Given the description of an element on the screen output the (x, y) to click on. 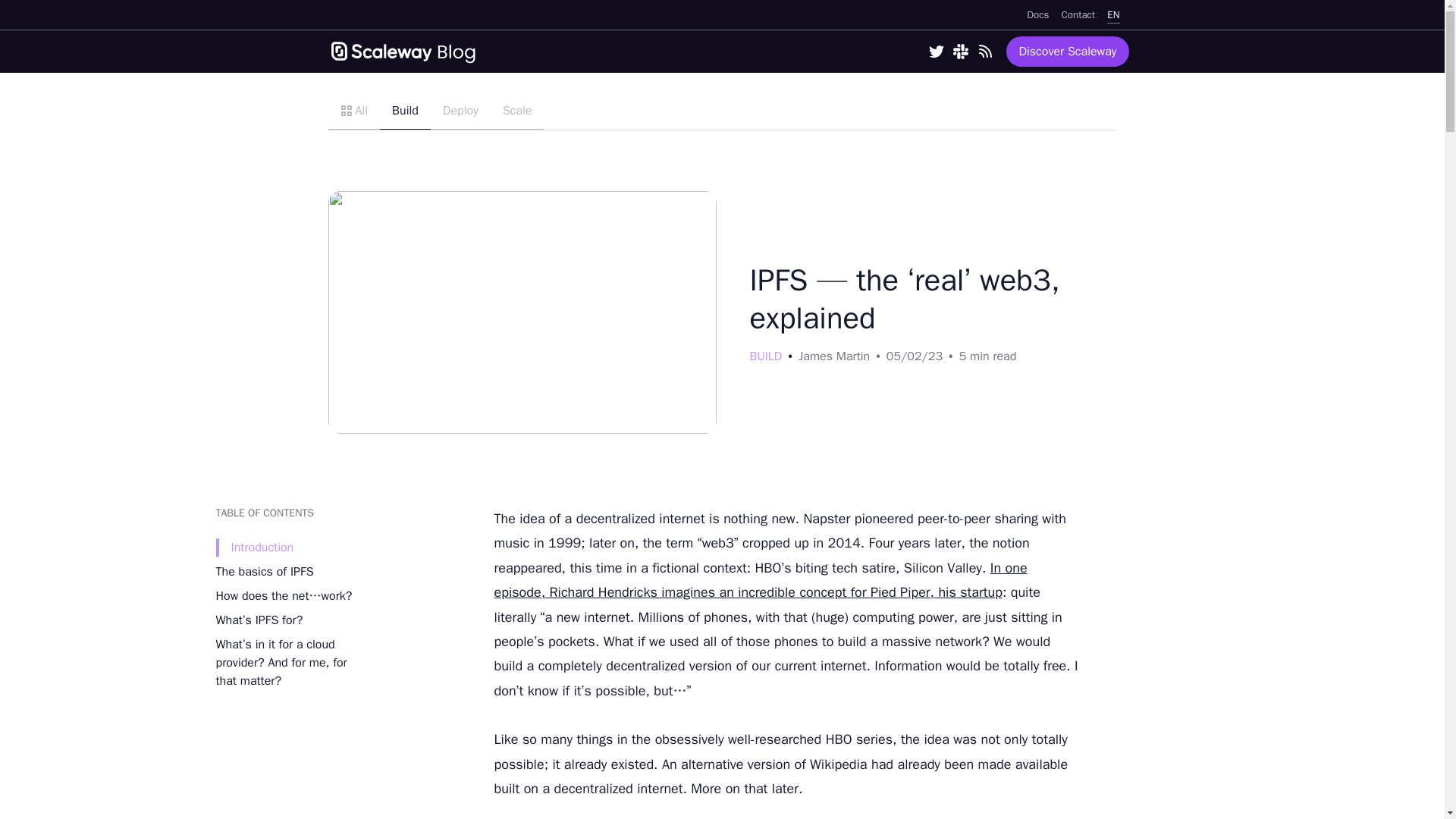
Twitter (935, 51)
Build (405, 110)
Contact (1078, 14)
Discover Scaleway (1067, 51)
Slack (960, 51)
Deploy (460, 110)
BUILD (765, 356)
RSS Feed (984, 51)
Docs (1037, 14)
The basics of IPFS (264, 571)
